Given the description of an element on the screen output the (x, y) to click on. 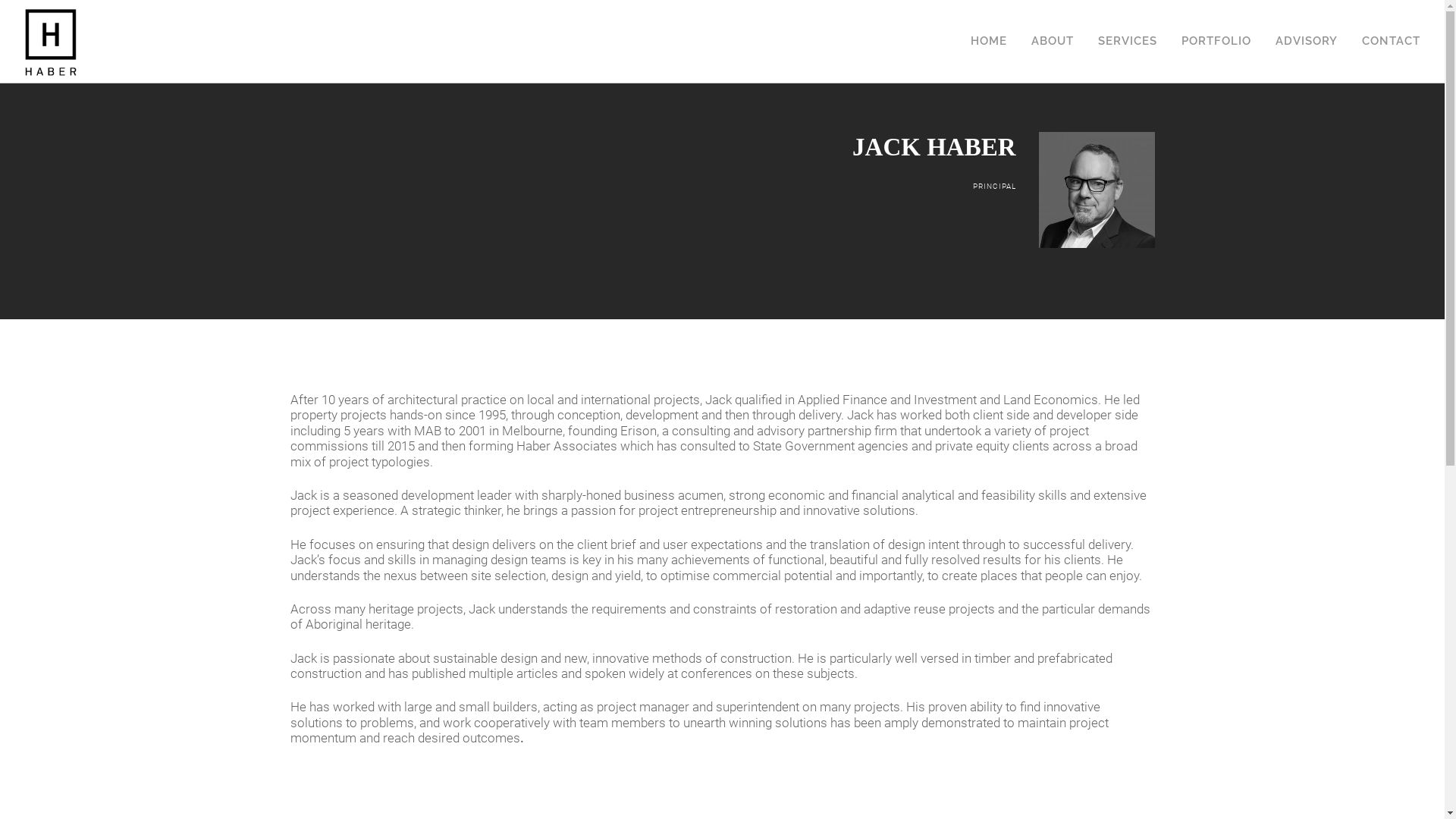
SERVICES Element type: text (1127, 20)
ABOUT Element type: text (1052, 20)
CONTACT Element type: text (1390, 20)
HOME Element type: text (988, 20)
PORTFOLIO Element type: text (1216, 20)
ADVISORY Element type: text (1306, 20)
